Given the description of an element on the screen output the (x, y) to click on. 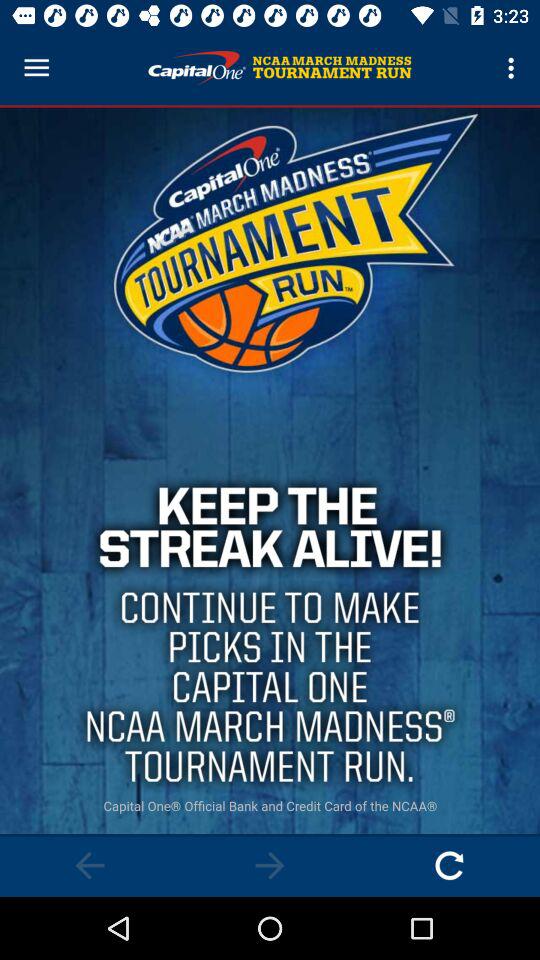
aromark (89, 865)
